Given the description of an element on the screen output the (x, y) to click on. 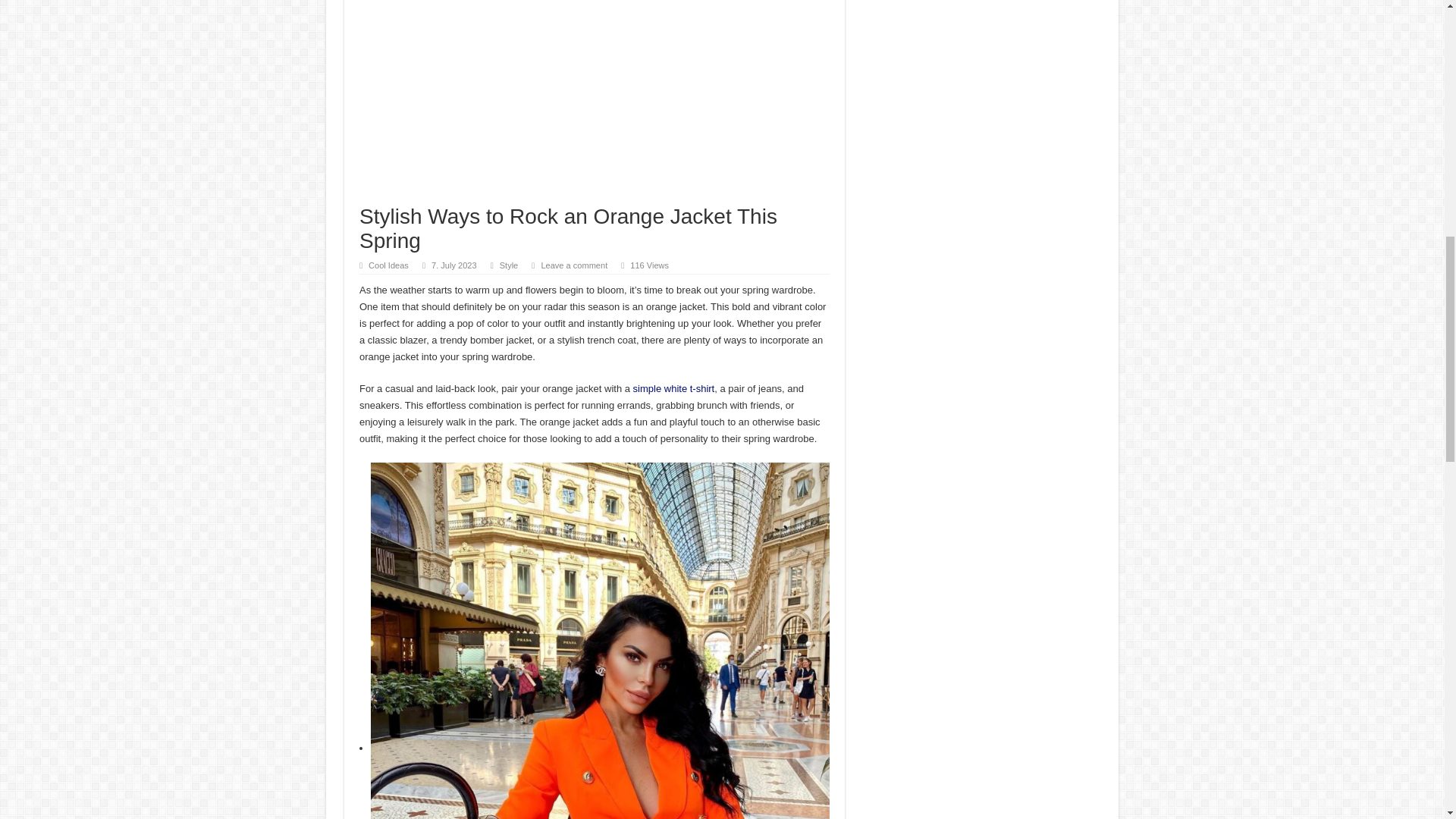
Ultimate Guide to Rocking Black Jeans in Every Fashion Style (673, 388)
Leave a comment (573, 265)
Cool Ideas (388, 265)
Advertisement (594, 102)
Style (508, 265)
simple white t-shirt (673, 388)
